Given the description of an element on the screen output the (x, y) to click on. 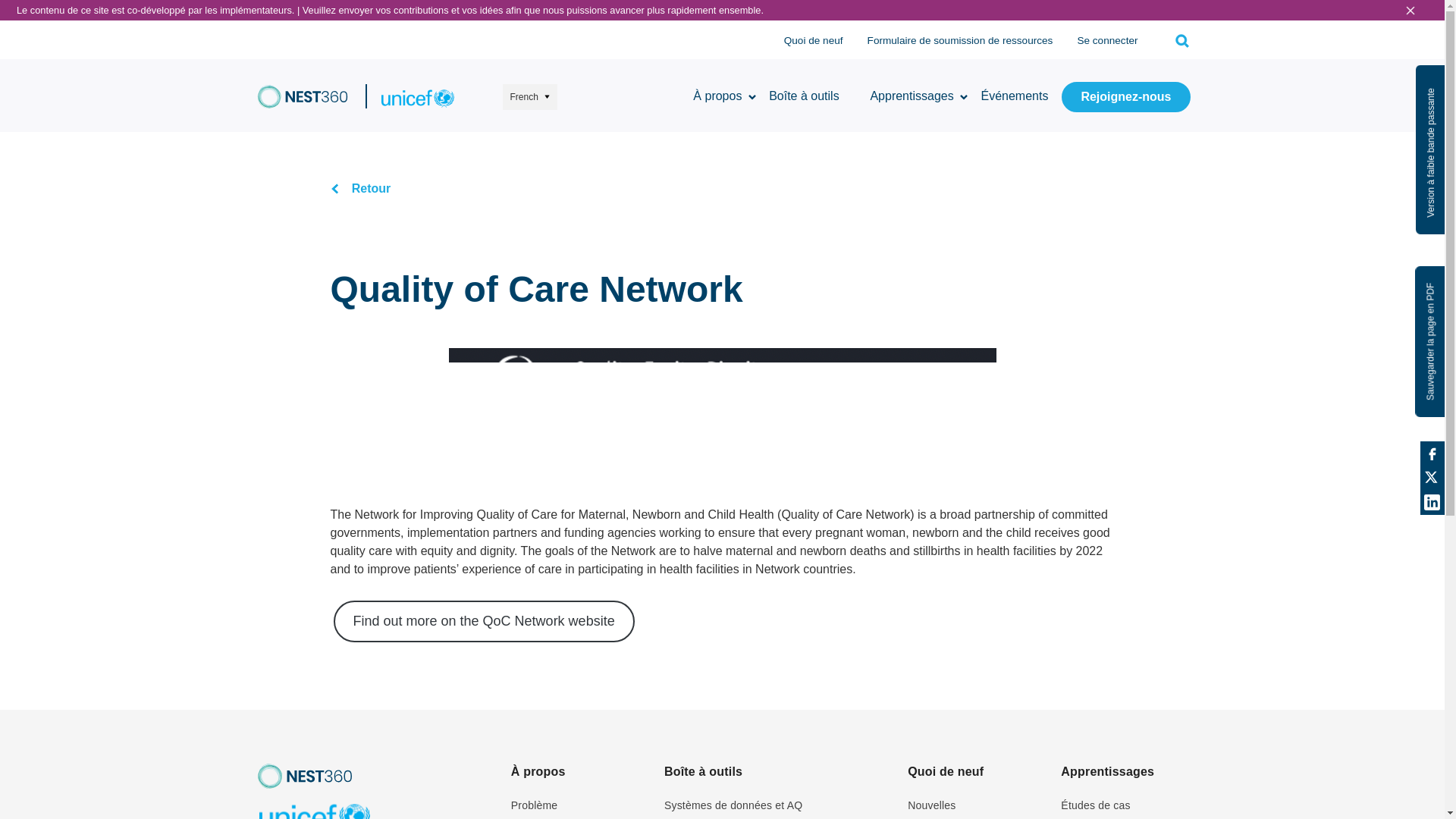
Formulaire de soumission de ressources (959, 40)
Rejoignez-nous (1125, 96)
French (529, 96)
Retour (360, 188)
Find out more on the QoC Network website (483, 621)
Se connecter (1107, 40)
Quoi de neuf (813, 40)
